Given the description of an element on the screen output the (x, y) to click on. 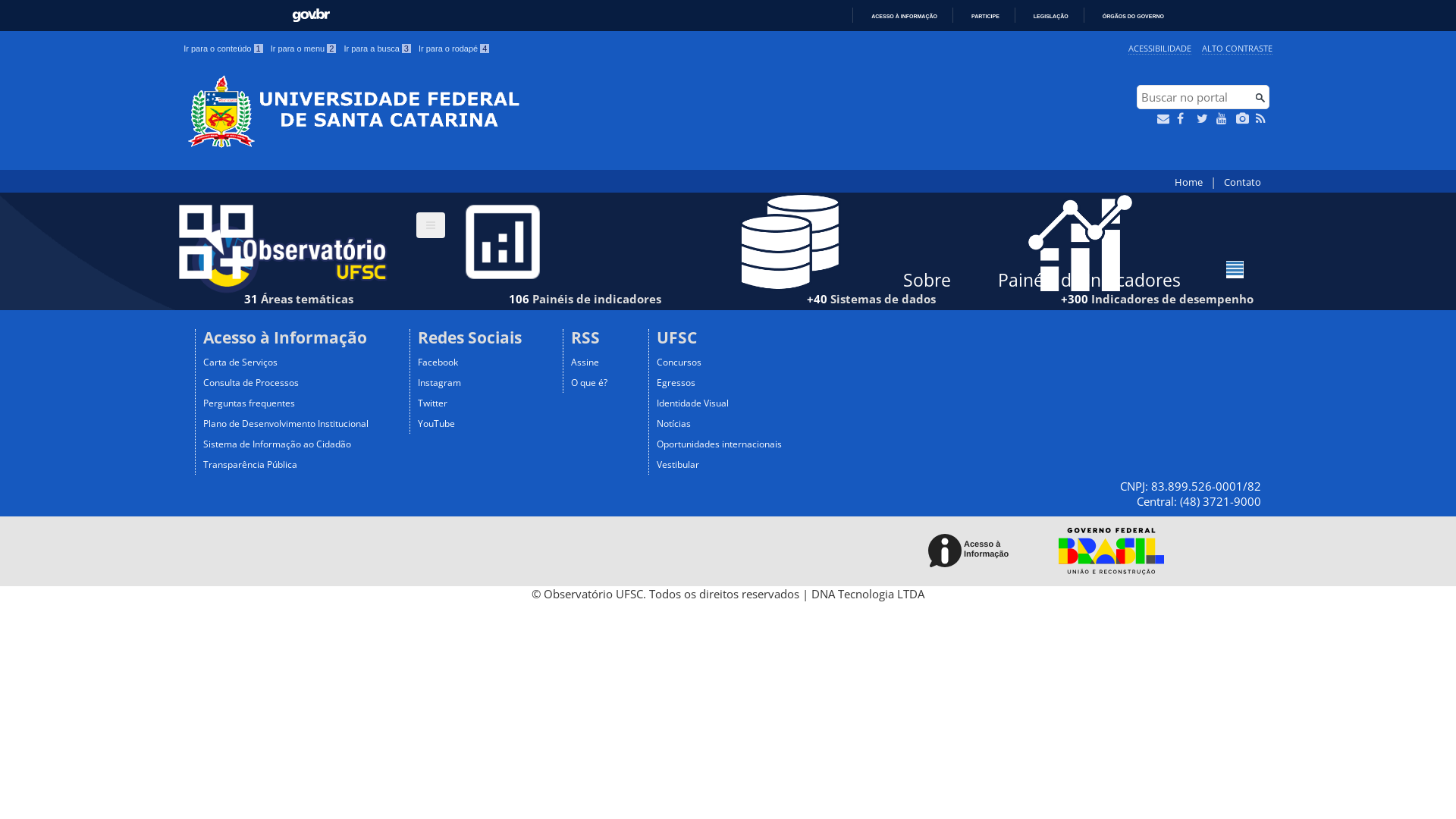
Plano de Desenvolvimento Institucional Element type: text (285, 423)
Vestibular Element type: text (677, 464)
Facebook Element type: text (437, 361)
Sobre Element type: text (926, 280)
ALTO CONTRASTE Element type: text (1236, 47)
Ir para o menu 2 Element type: text (303, 48)
Contato Element type: text (1242, 181)
Oportunidades internacionais Element type: text (718, 443)
Curta no Facebook Element type: hover (1184, 117)
DNA Tecnologia LTDA Element type: text (867, 593)
Veja no Instagram Element type: hover (1243, 117)
Perguntas frequentes Element type: text (248, 402)
Identidade Visual Element type: text (692, 402)
Instagram Element type: text (439, 382)
Concursos Element type: text (678, 361)
Home Element type: text (1188, 181)
Acesse o Webmail UFSC Element type: hover (1164, 117)
Governo Federal Element type: hover (1107, 550)
GOVBR Element type: text (310, 14)
Assine Element type: text (585, 361)
Twitter Element type: text (432, 402)
Consulta de Processos Element type: text (250, 382)
Ir para a busca 3 Element type: text (377, 48)
PARTICIPE Element type: text (978, 15)
ACESSIBILIDADE Element type: text (1159, 47)
Siga no Twitter Element type: hover (1203, 117)
Egressos Element type: text (675, 382)
YouTube Element type: text (436, 423)
